Given the description of an element on the screen output the (x, y) to click on. 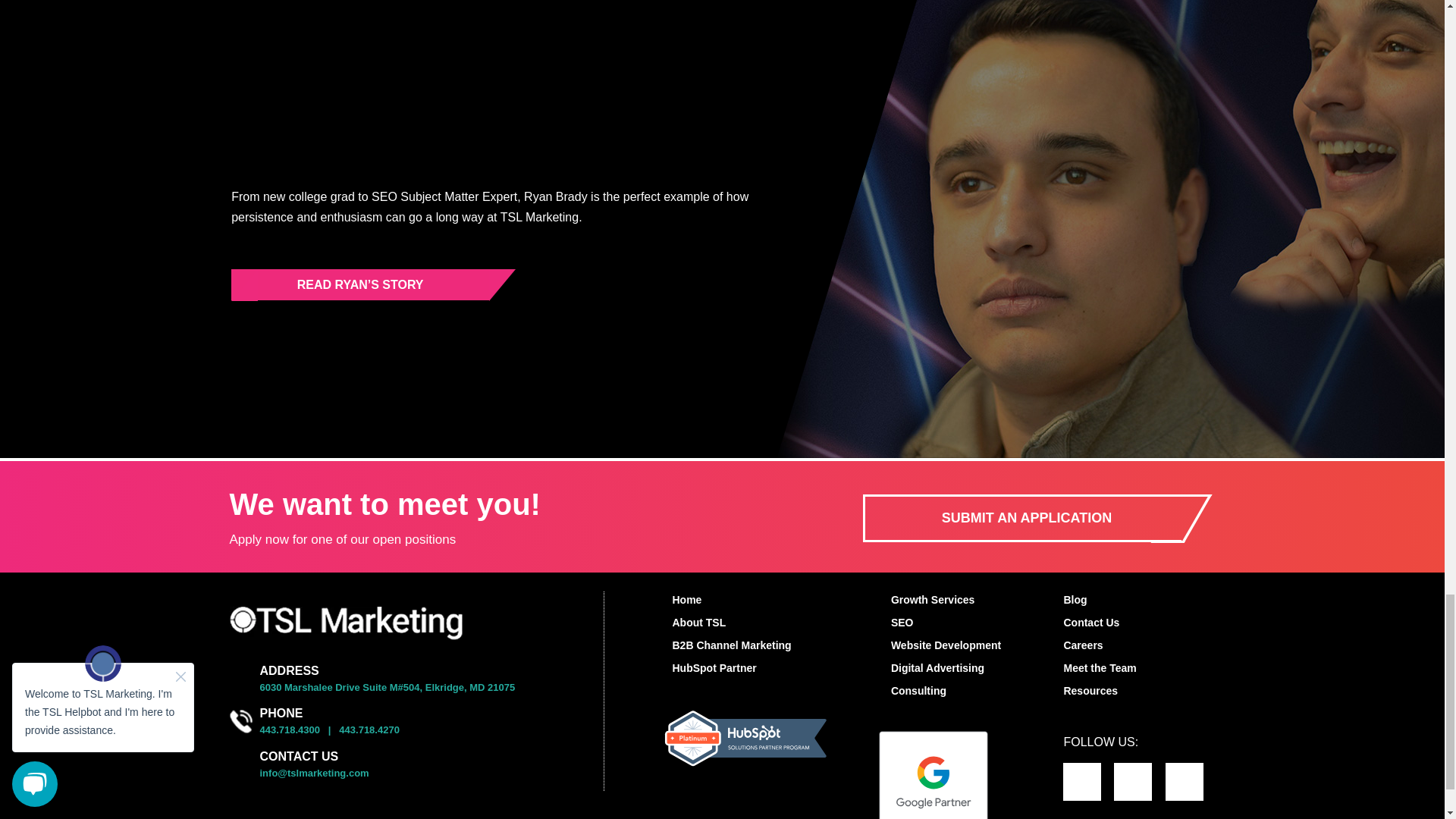
443.718.4270 (368, 729)
Partner-CMYK (933, 773)
SUBMIT AN APPLICATION (1021, 518)
footer-logo (344, 622)
443.718.4300 (289, 729)
